Given the description of an element on the screen output the (x, y) to click on. 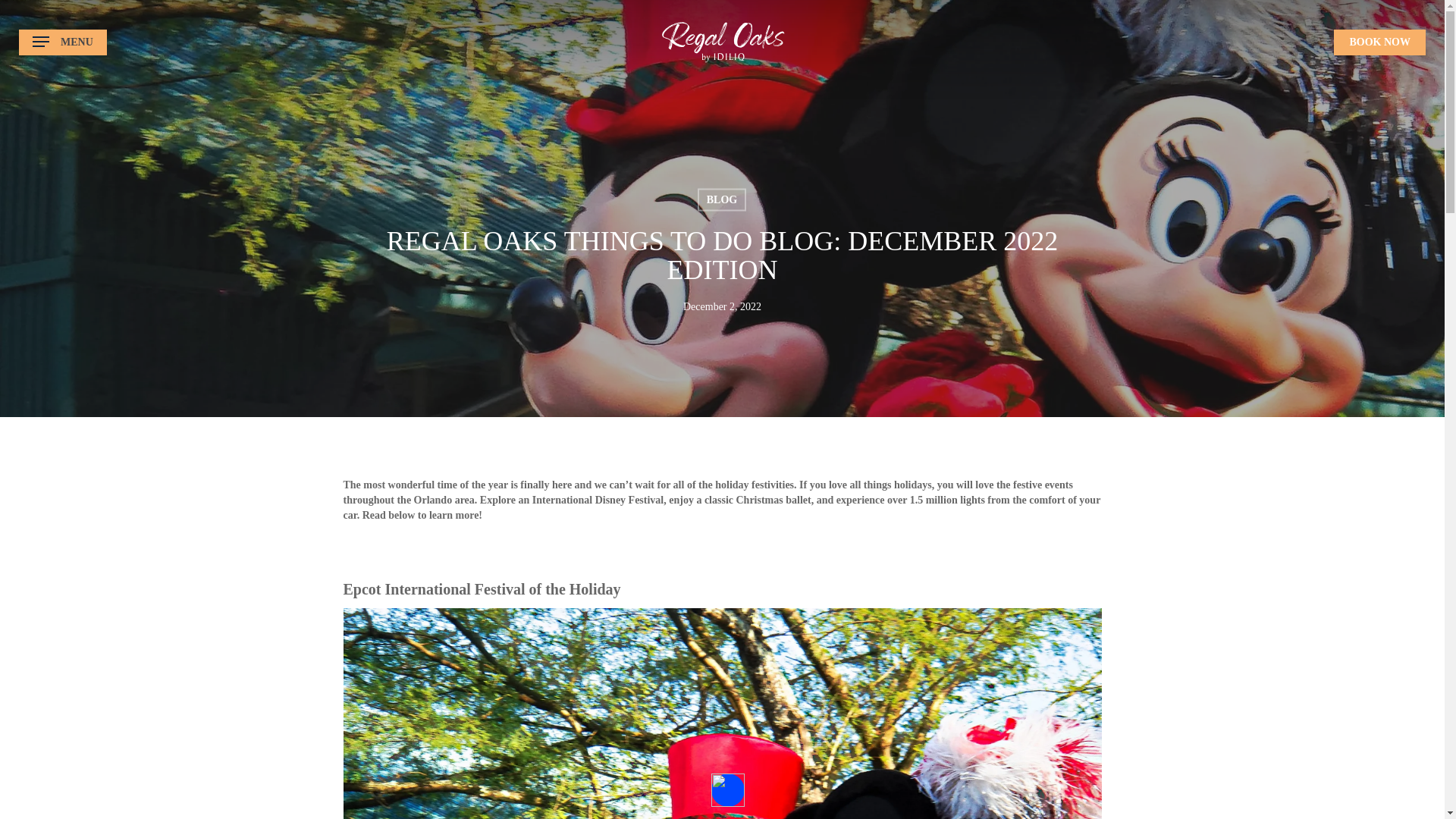
BLOG (721, 199)
MENU (62, 41)
Accessibility Menu (727, 789)
BOOK NOW (1379, 41)
